Given the description of an element on the screen output the (x, y) to click on. 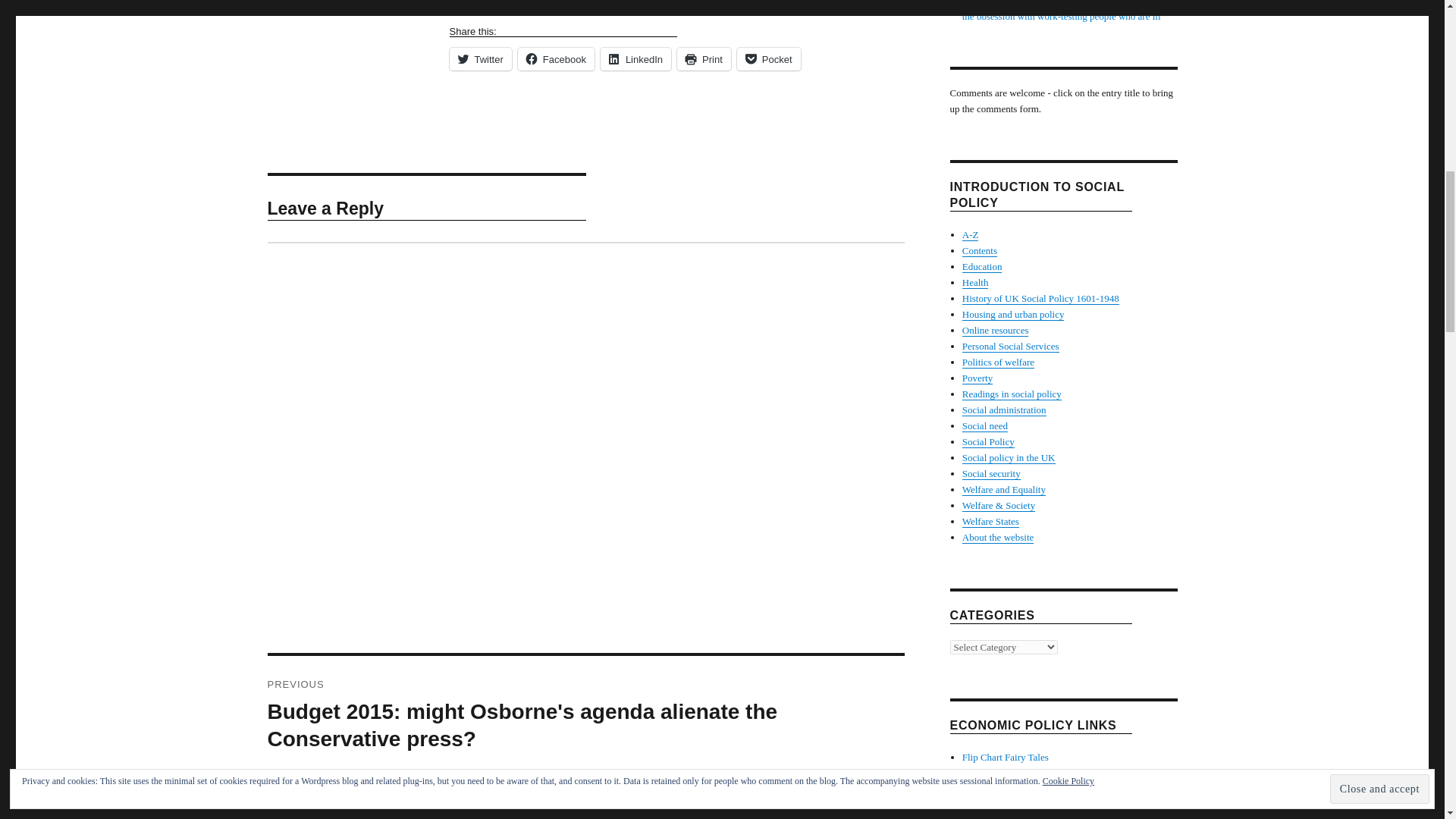
Click to share on LinkedIn (635, 58)
Click to share on Facebook (556, 58)
Twitter (479, 58)
LinkedIn (635, 58)
Pocket (768, 58)
Click to share on Pocket (768, 58)
Print (703, 58)
Click to print (703, 58)
Facebook (556, 58)
Click to share on Twitter (479, 58)
